Given the description of an element on the screen output the (x, y) to click on. 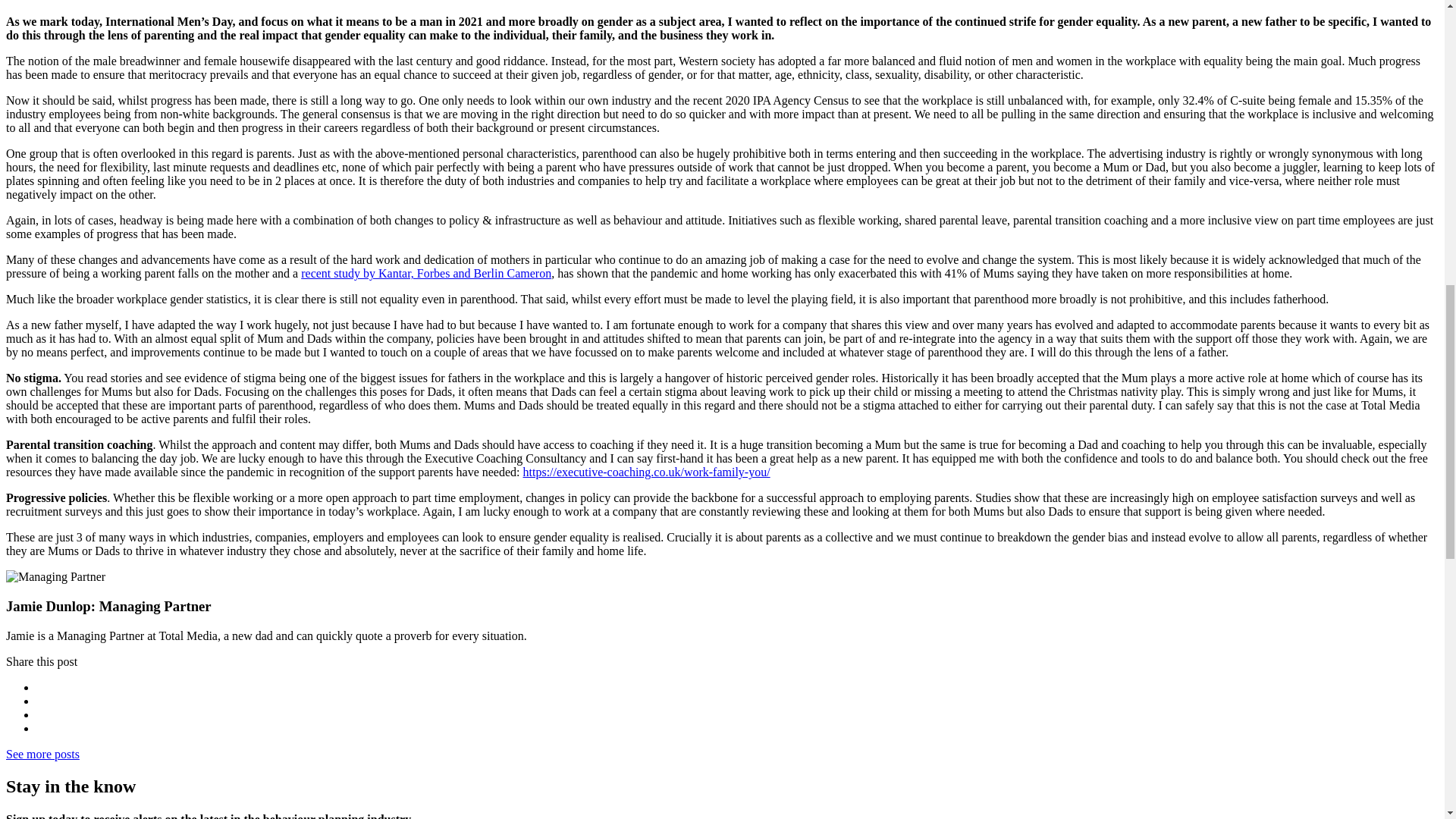
Share this post (41, 661)
See more posts (42, 753)
recent study by Kantar, Forbes and Berlin Cameron (426, 273)
